Given the description of an element on the screen output the (x, y) to click on. 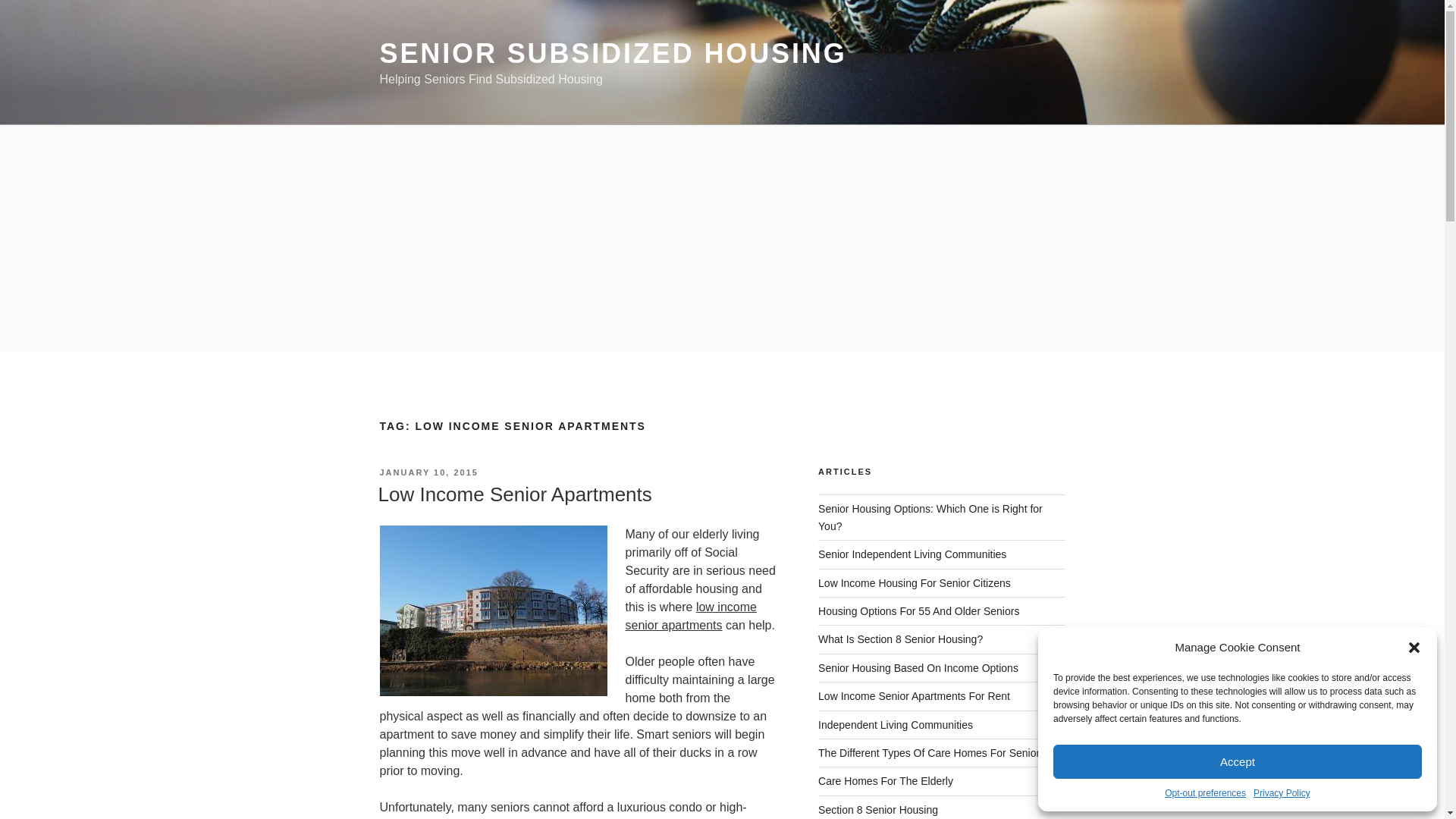
Independent Living Communities (895, 725)
Opt-out preferences (1205, 793)
Low Income Senior Apartments For Rent (914, 695)
Housing Options For 55 And Older Seniors (918, 611)
The Different Types Of Care Homes For Seniors (931, 752)
Low Income Senior Apartments (513, 494)
Senior Independent Living Communities (912, 553)
Section 8 Senior Housing (877, 809)
Senior Housing Based On Income Options (917, 667)
Care Homes For The Elderly (885, 780)
Accept (1237, 761)
Low Income Housing For Senior Citizens (914, 582)
Privacy Policy (1281, 793)
Senior Housing Options: Which One is Right for You? (930, 516)
